Given the description of an element on the screen output the (x, y) to click on. 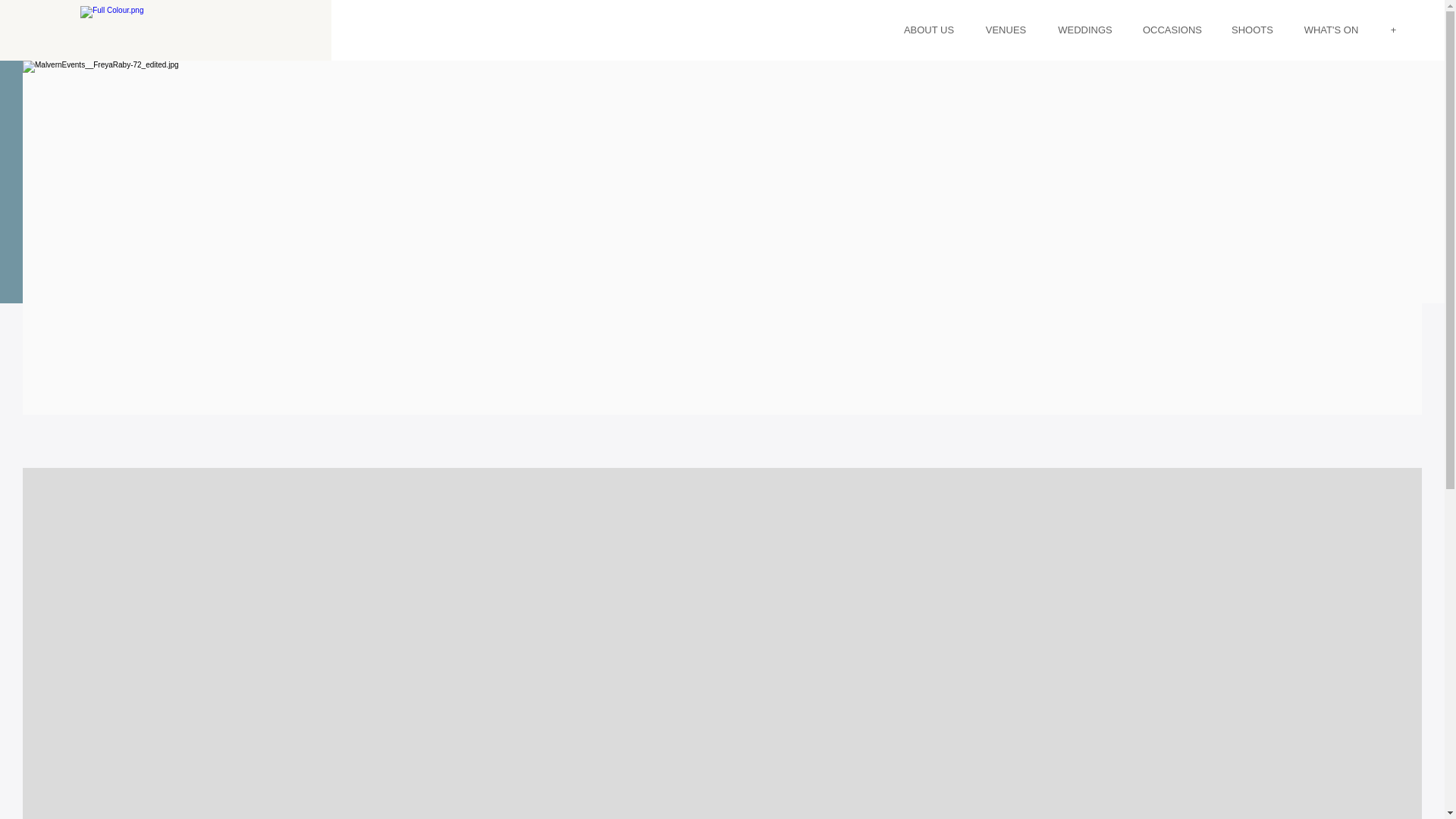
ABOUT US (928, 30)
SHOOTS (1251, 30)
WHAT'S ON (1331, 30)
VENUES (1005, 30)
OCCASIONS (1171, 30)
WEDDINGS (1085, 30)
